Given the description of an element on the screen output the (x, y) to click on. 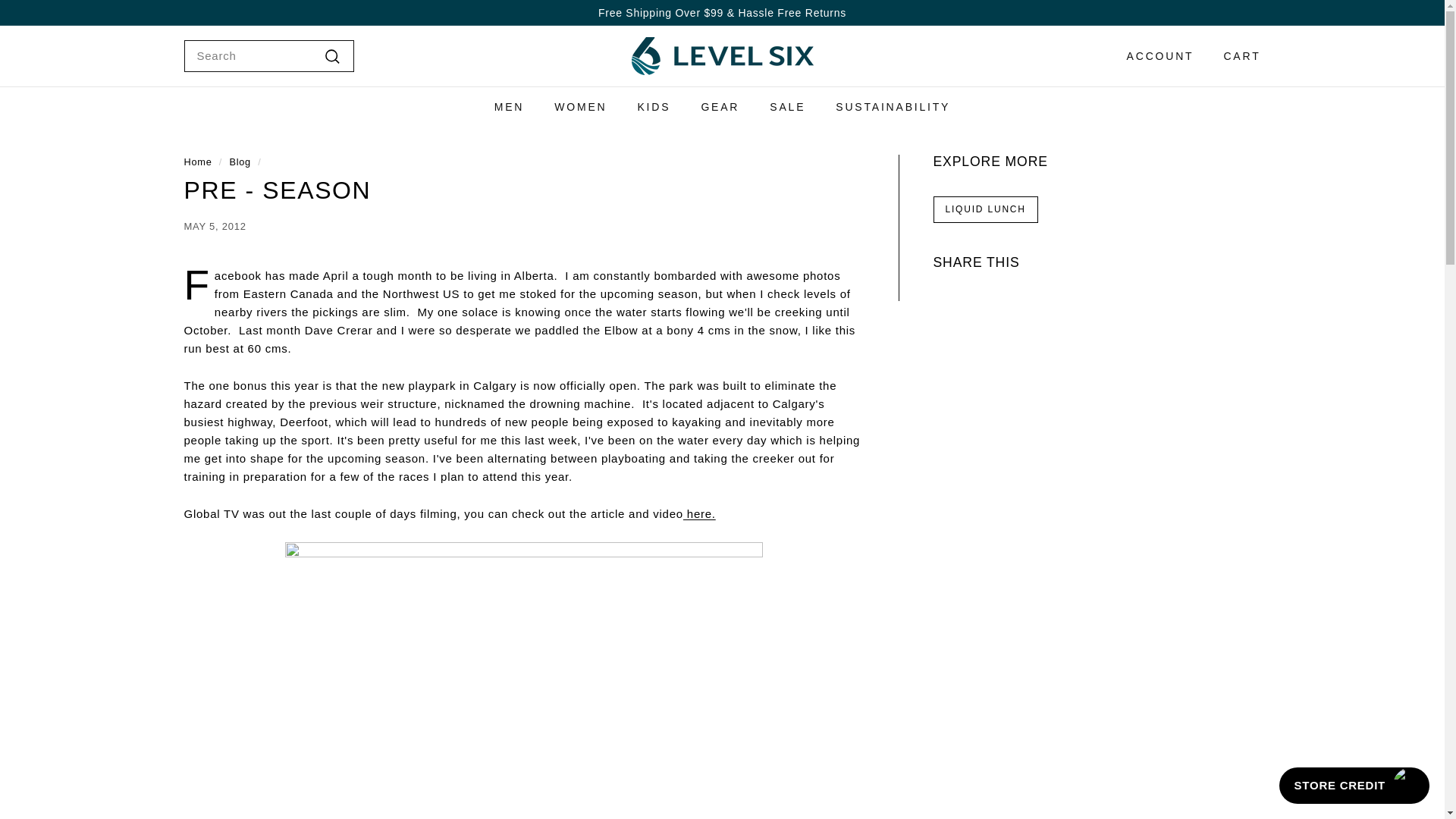
CART (1235, 56)
Back to the frontpage (197, 161)
ACCOUNT (1155, 56)
